Given the description of an element on the screen output the (x, y) to click on. 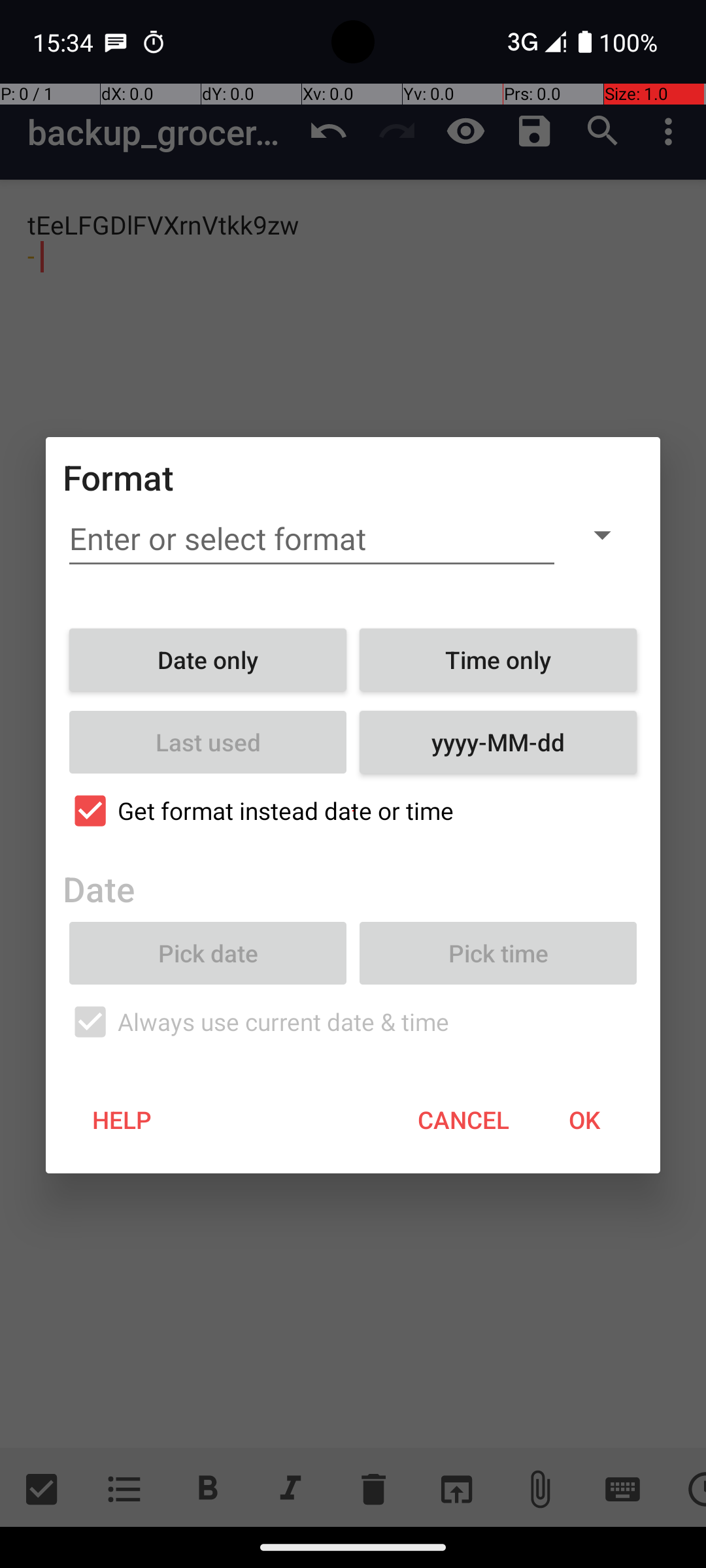
Format Element type: android.widget.TextView (118, 477)
Enter or select format Element type: android.widget.EditText (311, 538)
Choose format Element type: android.widget.TextView (601, 534)
Date only Element type: android.widget.Button (207, 659)
Time only Element type: android.widget.Button (498, 659)
Last used Element type: android.widget.Button (207, 742)
yyyy-MM-dd Element type: android.widget.Button (498, 742)
Get format instead date or time Element type: android.widget.CheckBox (352, 810)
Pick date Element type: android.widget.Button (207, 953)
Pick time Element type: android.widget.Button (498, 953)
Always use current date & time Element type: android.widget.CheckBox (352, 1021)
HELP Element type: android.widget.Button (121, 1119)
